Given the description of an element on the screen output the (x, y) to click on. 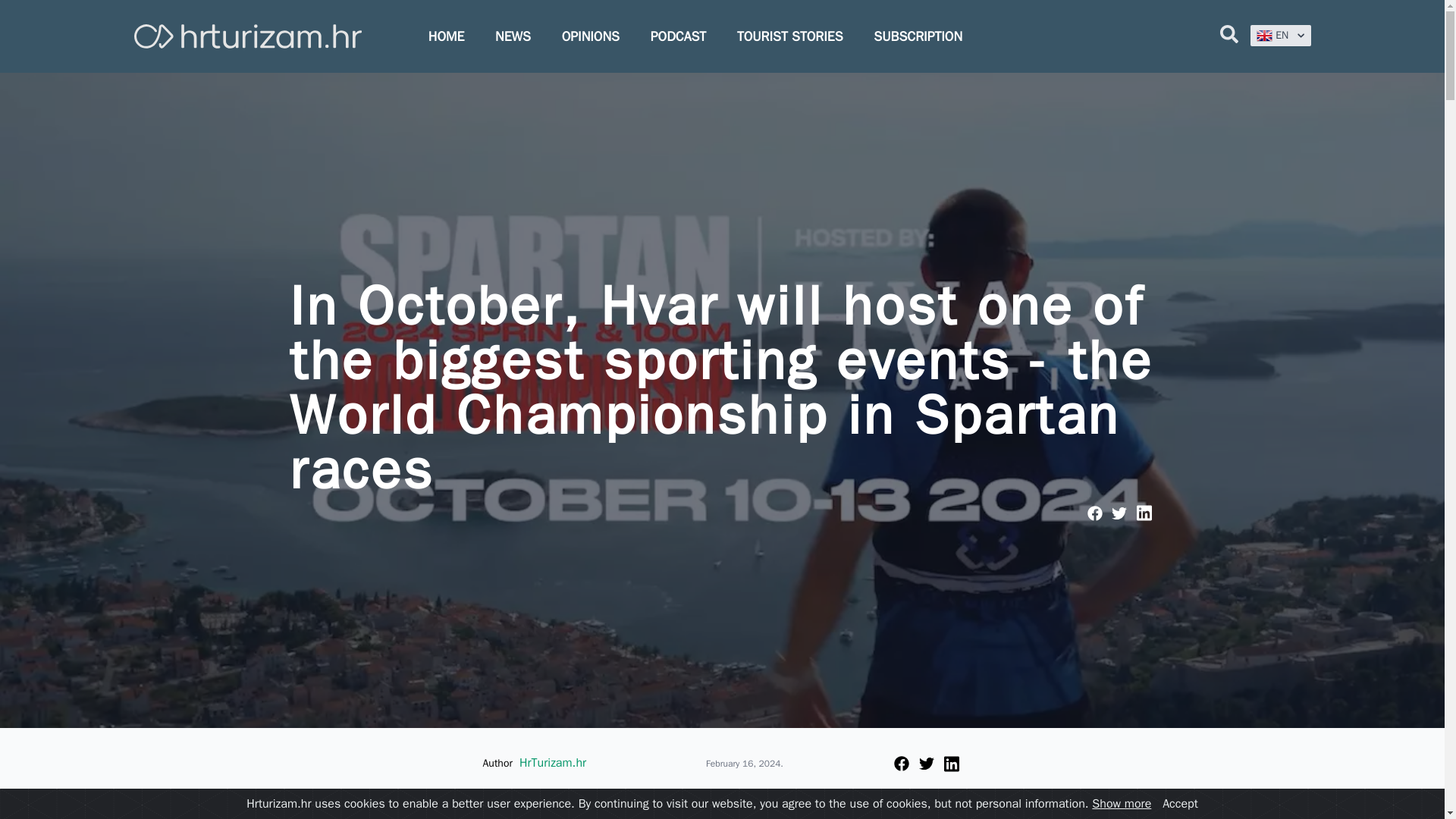
HrTurizam.hr (552, 762)
PODCAST (678, 36)
NEWS (513, 36)
TOURIST STORIES (789, 36)
OPINIONS (591, 36)
  EN (1279, 34)
HOME (446, 36)
SUBSCRIPTION (917, 36)
